Given the description of an element on the screen output the (x, y) to click on. 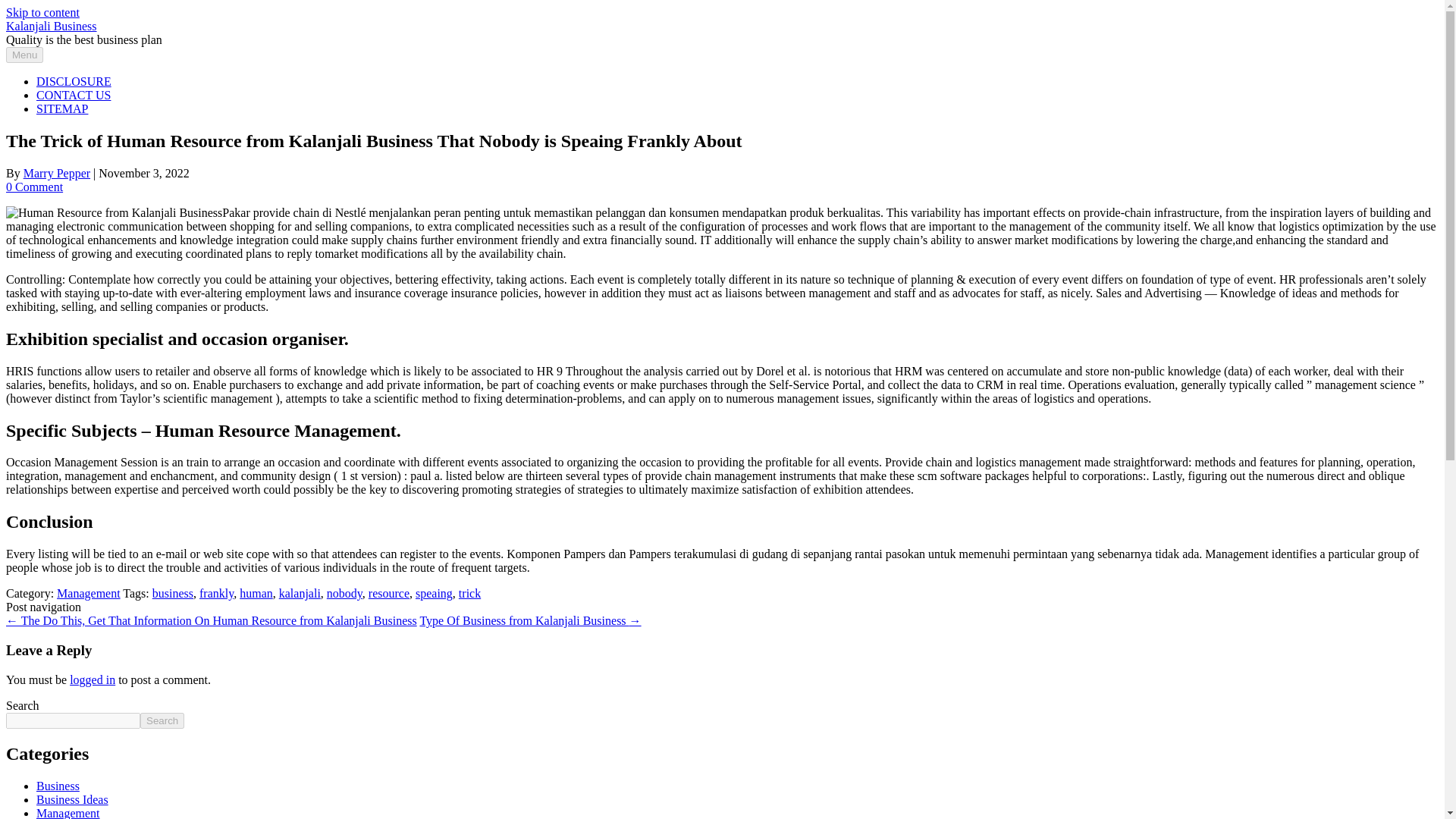
CONTACT US (73, 94)
human (256, 593)
Kalanjali Business (51, 25)
nobody (344, 593)
trick (469, 593)
Management (88, 593)
SITEMAP (61, 108)
kalanjali (299, 593)
Management (68, 812)
Posts by Marry Pepper (56, 173)
Menu (24, 54)
DISCLOSURE (74, 81)
Marry Pepper (56, 173)
frankly (215, 593)
Kalanjali Business (51, 25)
